Given the description of an element on the screen output the (x, y) to click on. 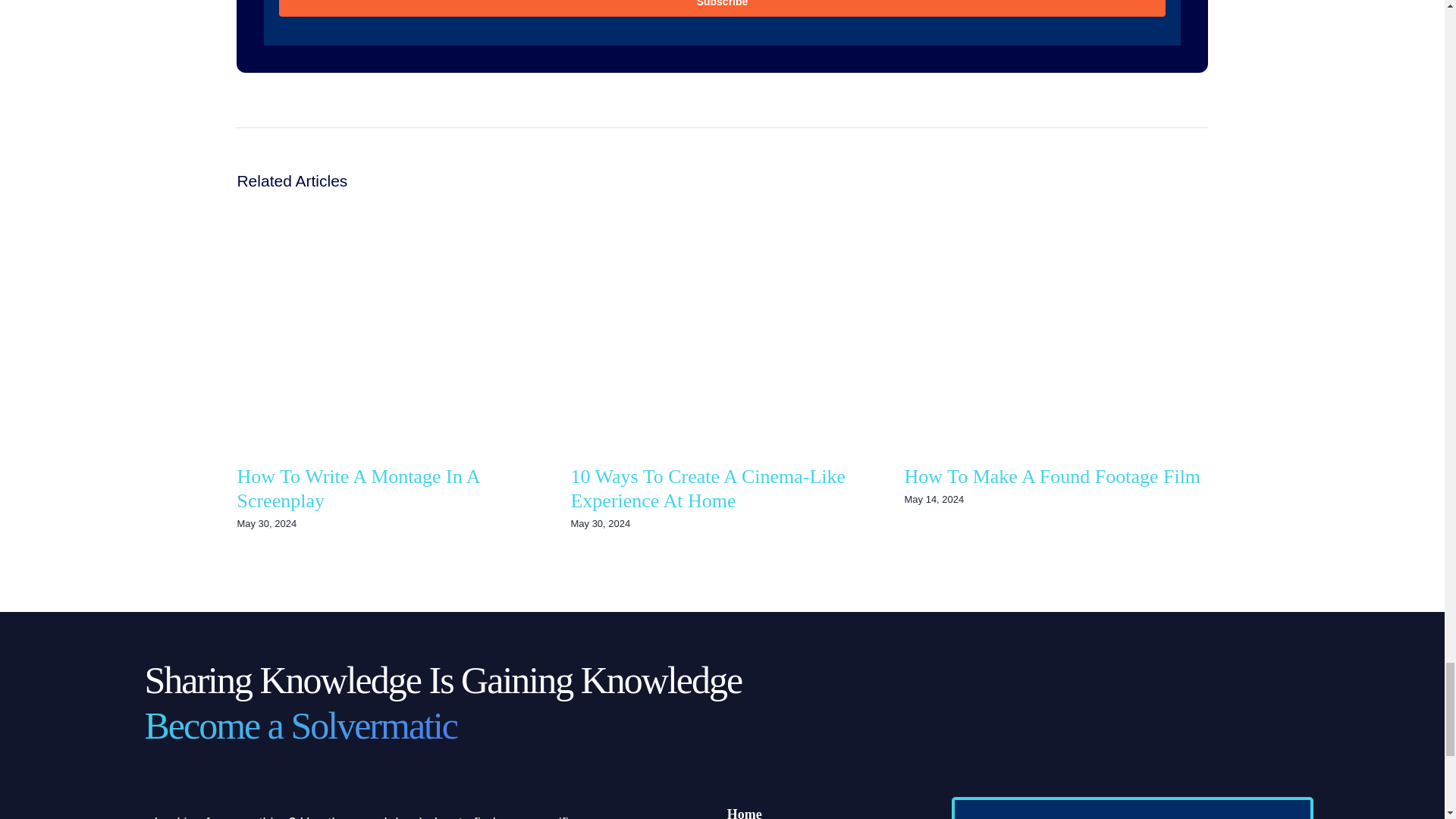
How To Write A Montage In A Screenplay (357, 489)
How To Make A Found Footage Film (1051, 476)
10 Ways To Create A Cinema-Like Experience At Home (707, 489)
